Given the description of an element on the screen output the (x, y) to click on. 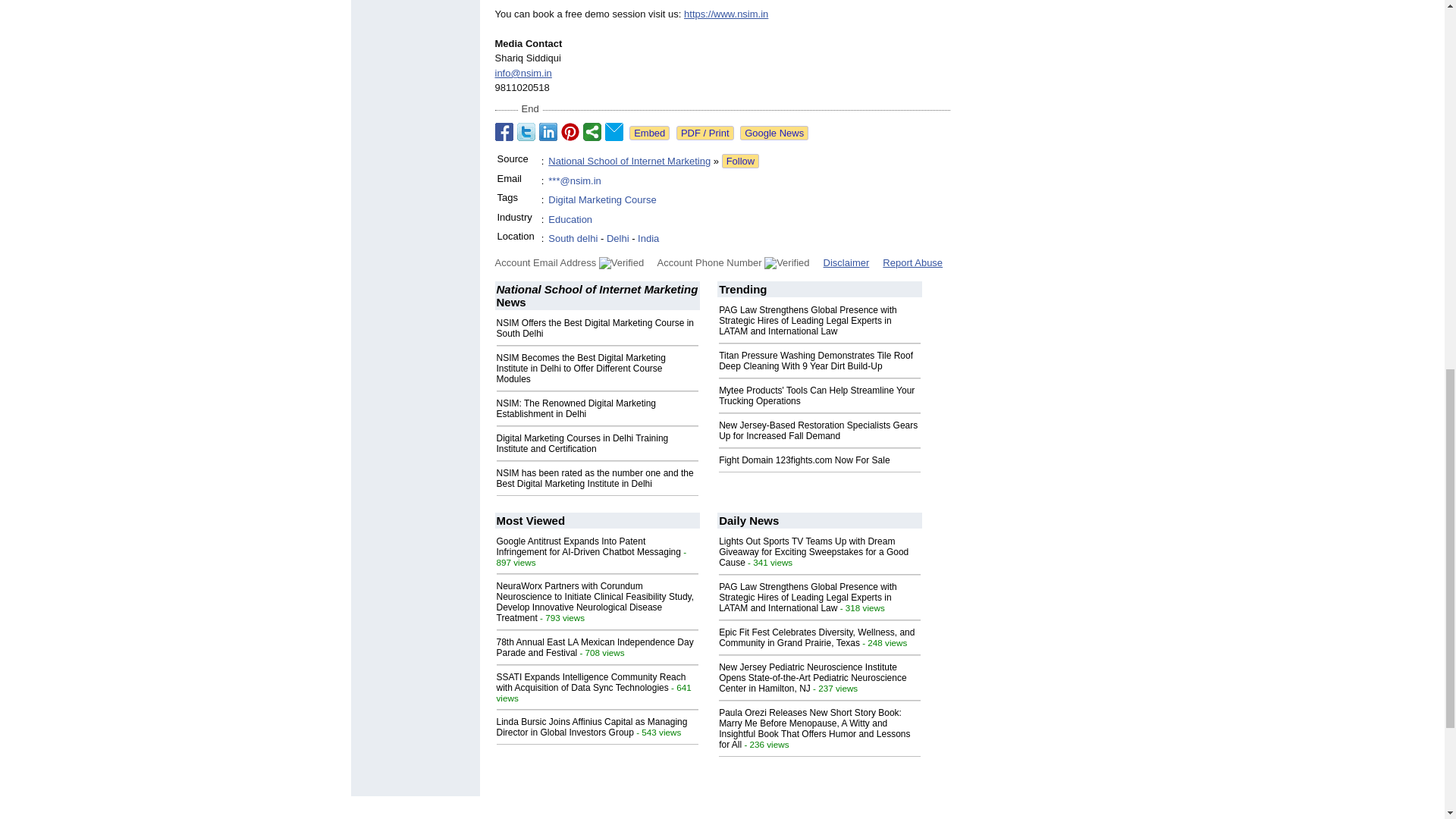
Embed this press release in your website! (648, 133)
Share on Twitter (525, 131)
Share on Facebook (503, 131)
Email to a Friend (614, 131)
Share on LinkedIn (547, 131)
Verified (620, 263)
See or print the PDF version! (705, 133)
Embed (648, 133)
Share on StumbleUpon, Digg, etc (590, 131)
Share on Pinterest (569, 131)
